Given the description of an element on the screen output the (x, y) to click on. 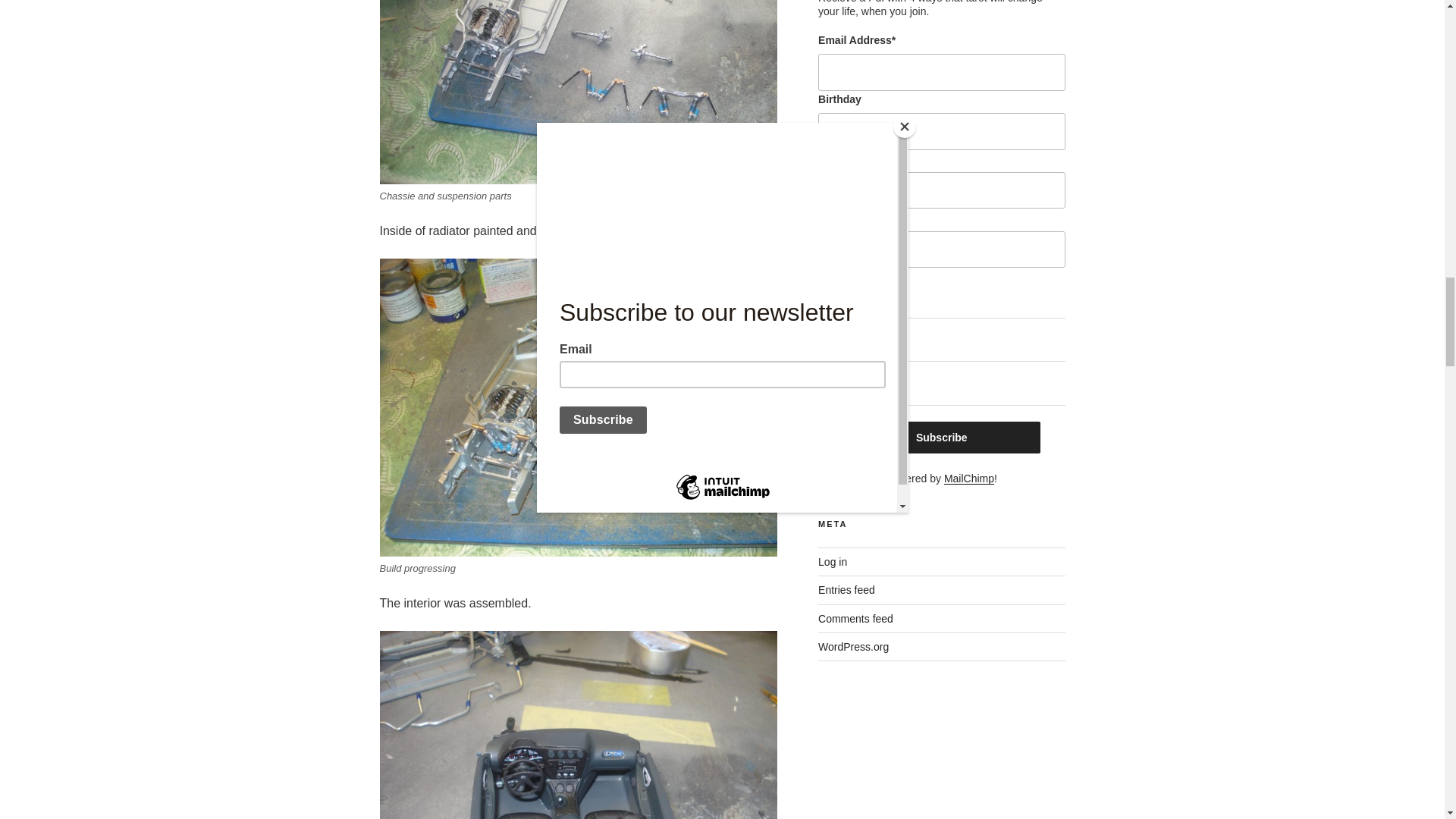
html (823, 327)
text (823, 370)
Subscribe (942, 437)
